Given the description of an element on the screen output the (x, y) to click on. 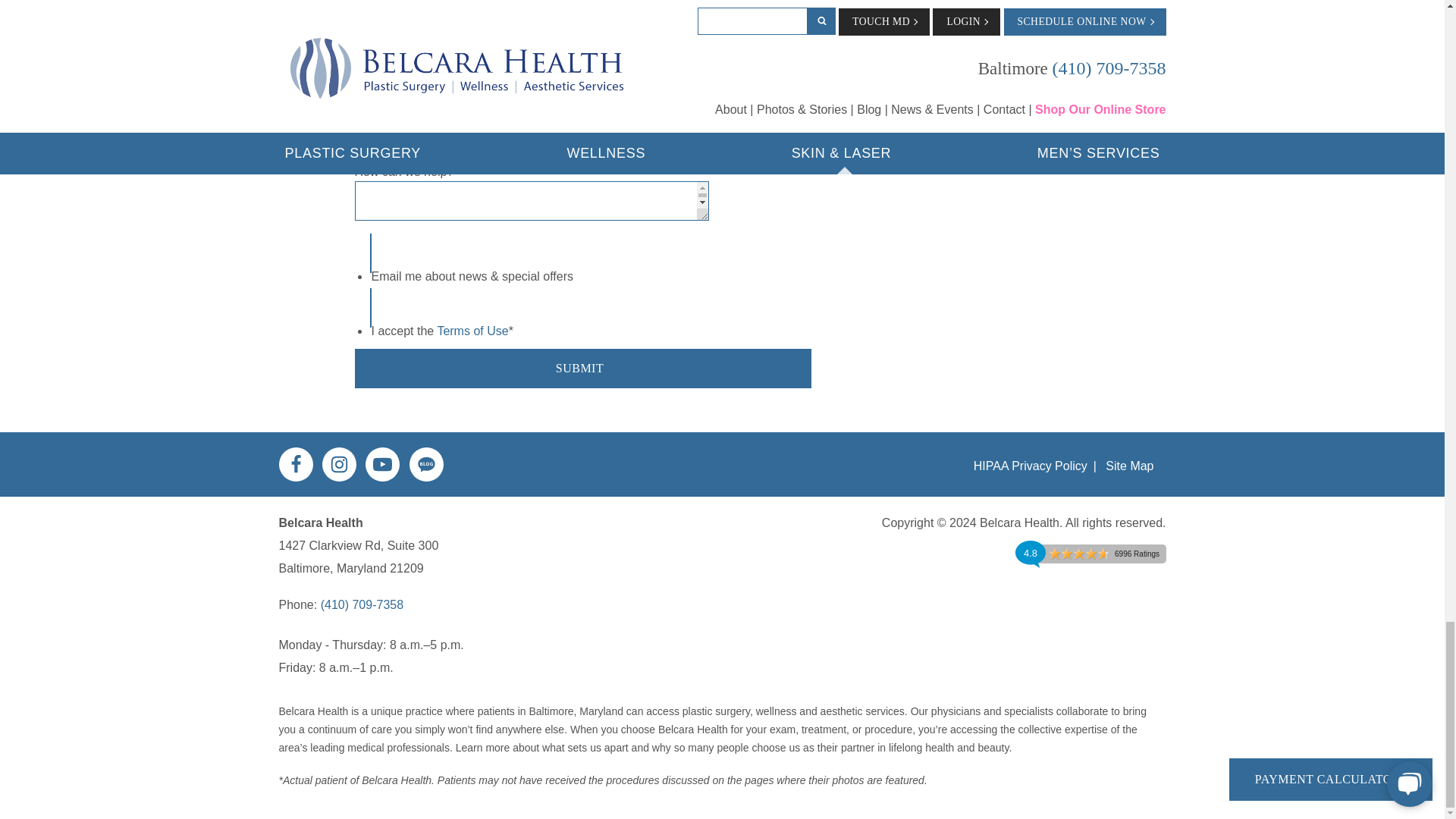
Submit (582, 368)
